Given the description of an element on the screen output the (x, y) to click on. 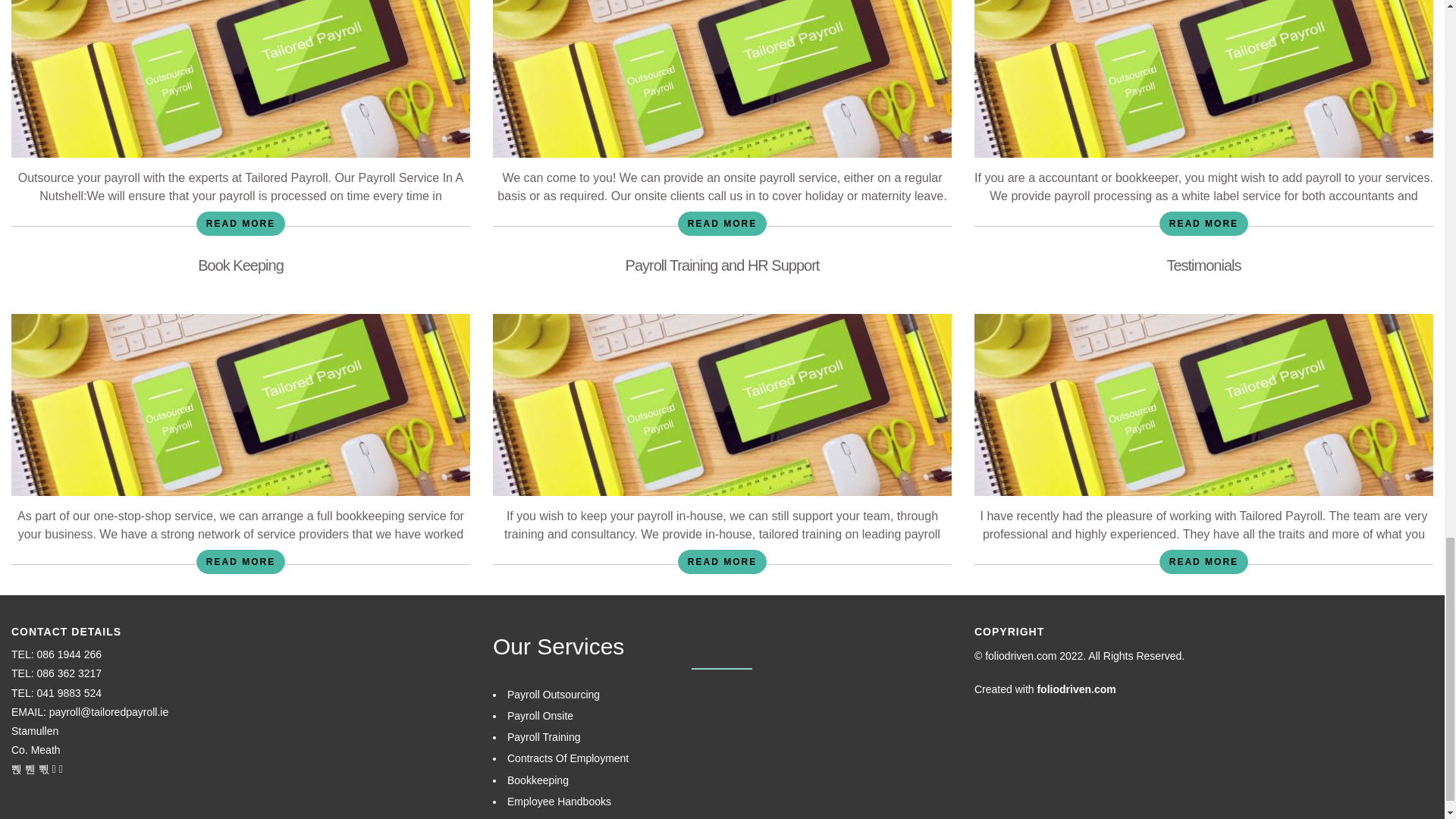
Testimonials (1203, 265)
READ MORE (1202, 561)
READ MORE (722, 223)
Book Keeping (240, 265)
Payroll Training and HR Support (722, 265)
READ MORE (240, 561)
READ MORE (240, 223)
READ MORE (1202, 223)
READ MORE (722, 561)
